Given the description of an element on the screen output the (x, y) to click on. 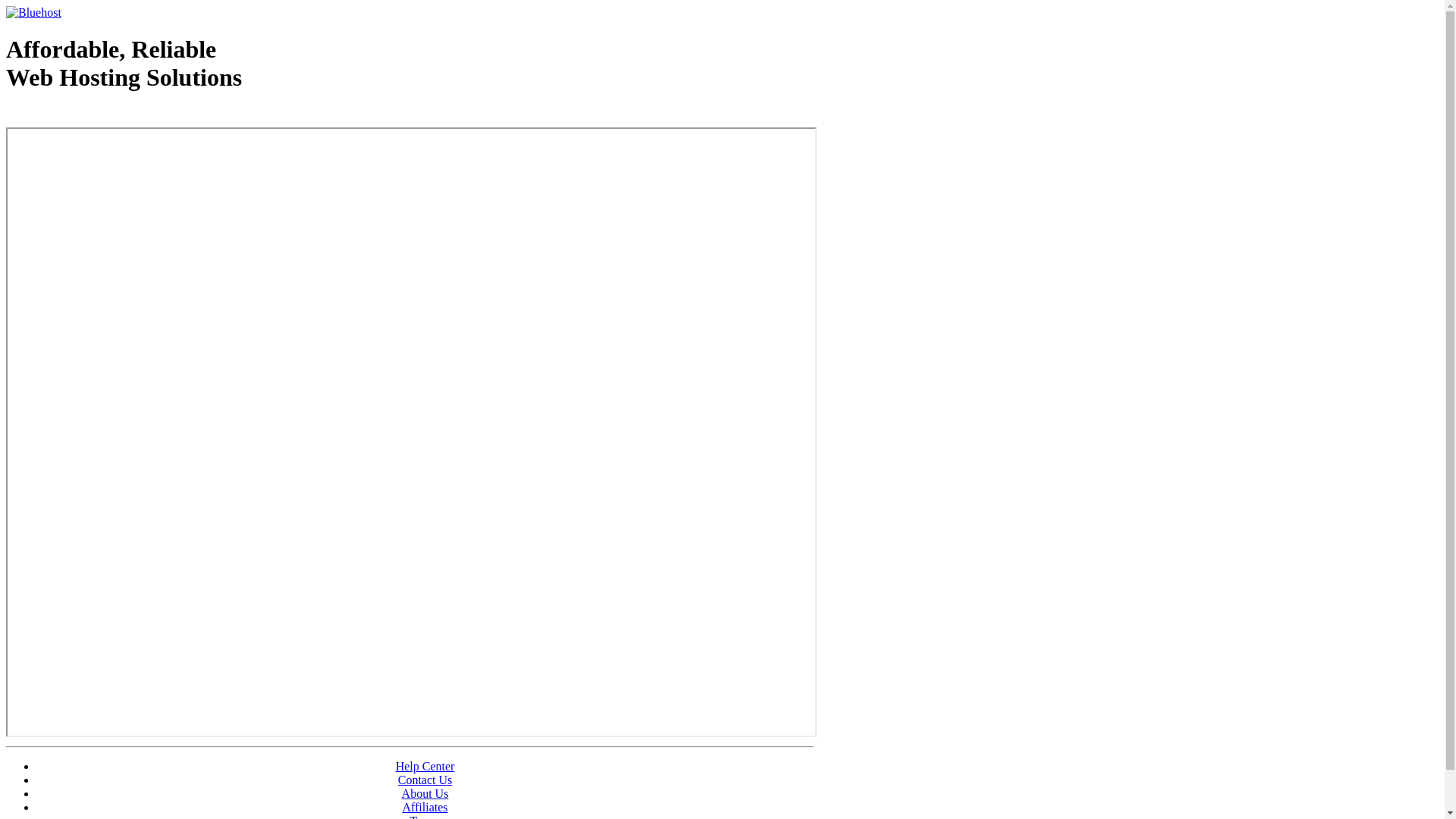
Affiliates Element type: text (424, 806)
Web Hosting - courtesy of www.bluehost.com Element type: text (94, 115)
About Us Element type: text (424, 793)
Help Center Element type: text (425, 765)
Contact Us Element type: text (425, 779)
